Given the description of an element on the screen output the (x, y) to click on. 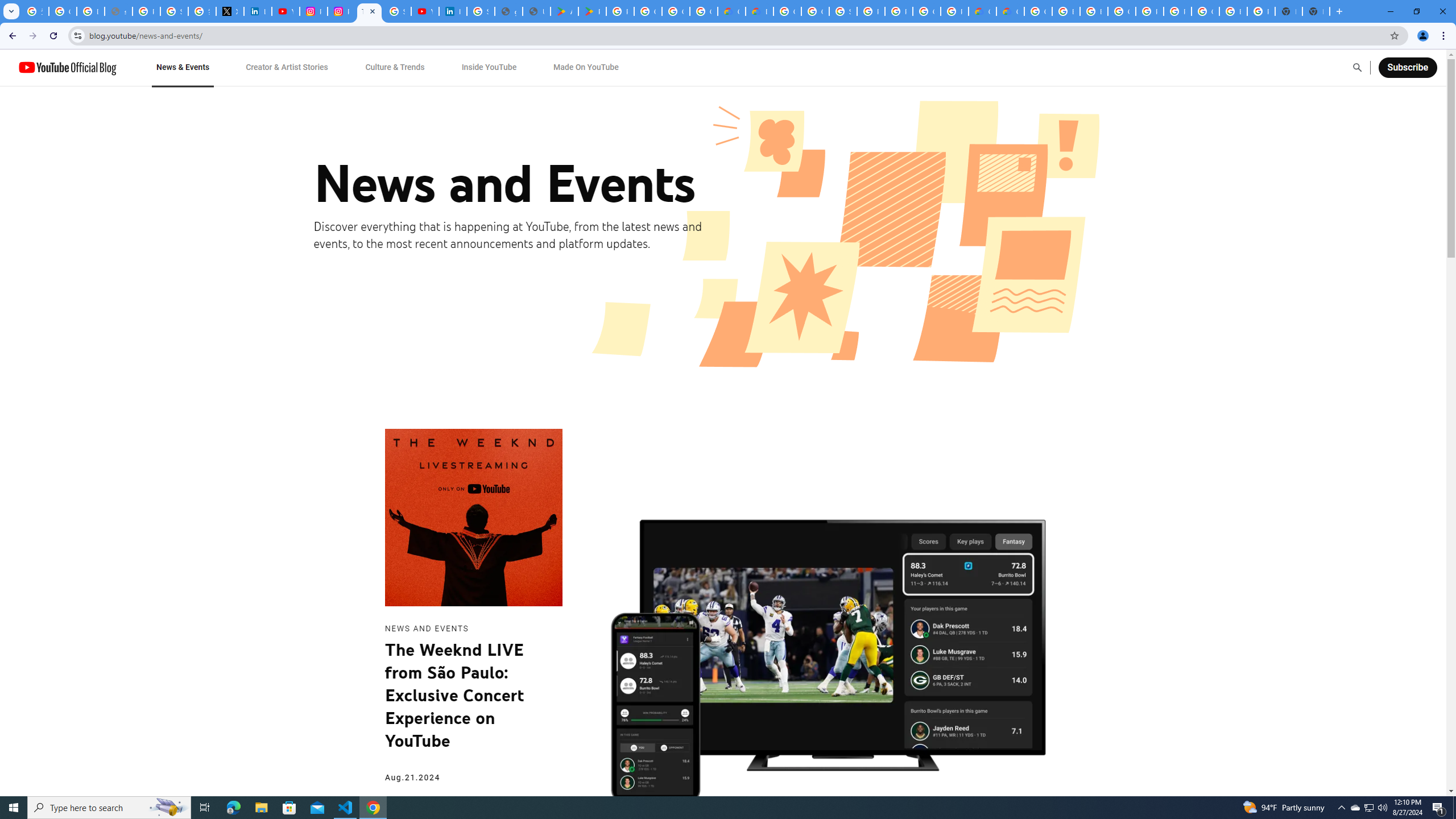
Google Cloud Platform (1038, 11)
YouTube Official Blog logo (67, 67)
Customer Care | Google Cloud (982, 11)
X (229, 11)
Google Workspace - Specific Terms (703, 11)
YouTube Content Monetization Policies - How YouTube Works (285, 11)
New Tab (1316, 11)
News & Events (182, 67)
Google Cloud Platform (787, 11)
